Given the description of an element on the screen output the (x, y) to click on. 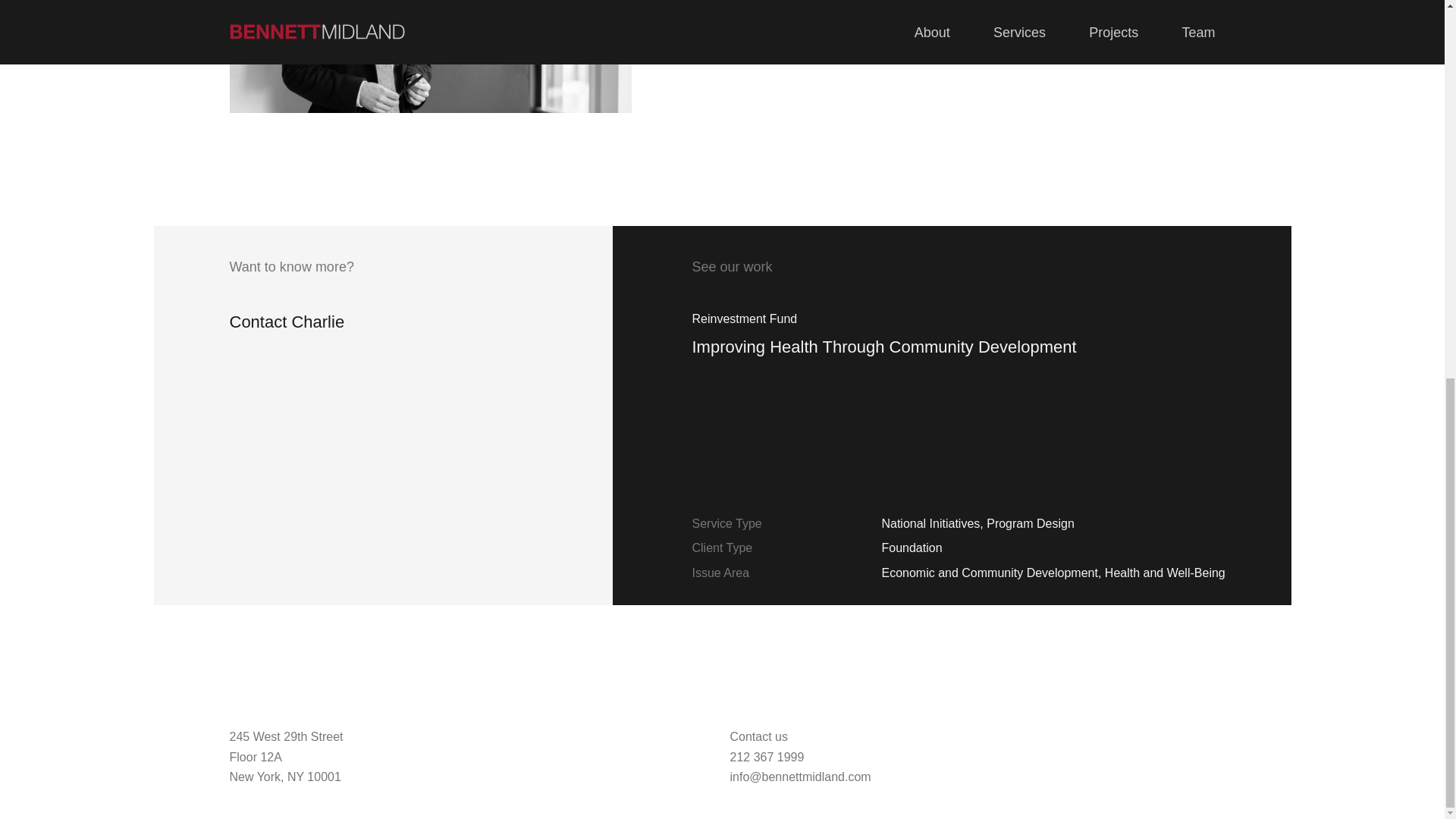
212 367 1999 (766, 757)
Improving Health Through Community Development (967, 358)
Contact Charlie (290, 322)
